Given the description of an element on the screen output the (x, y) to click on. 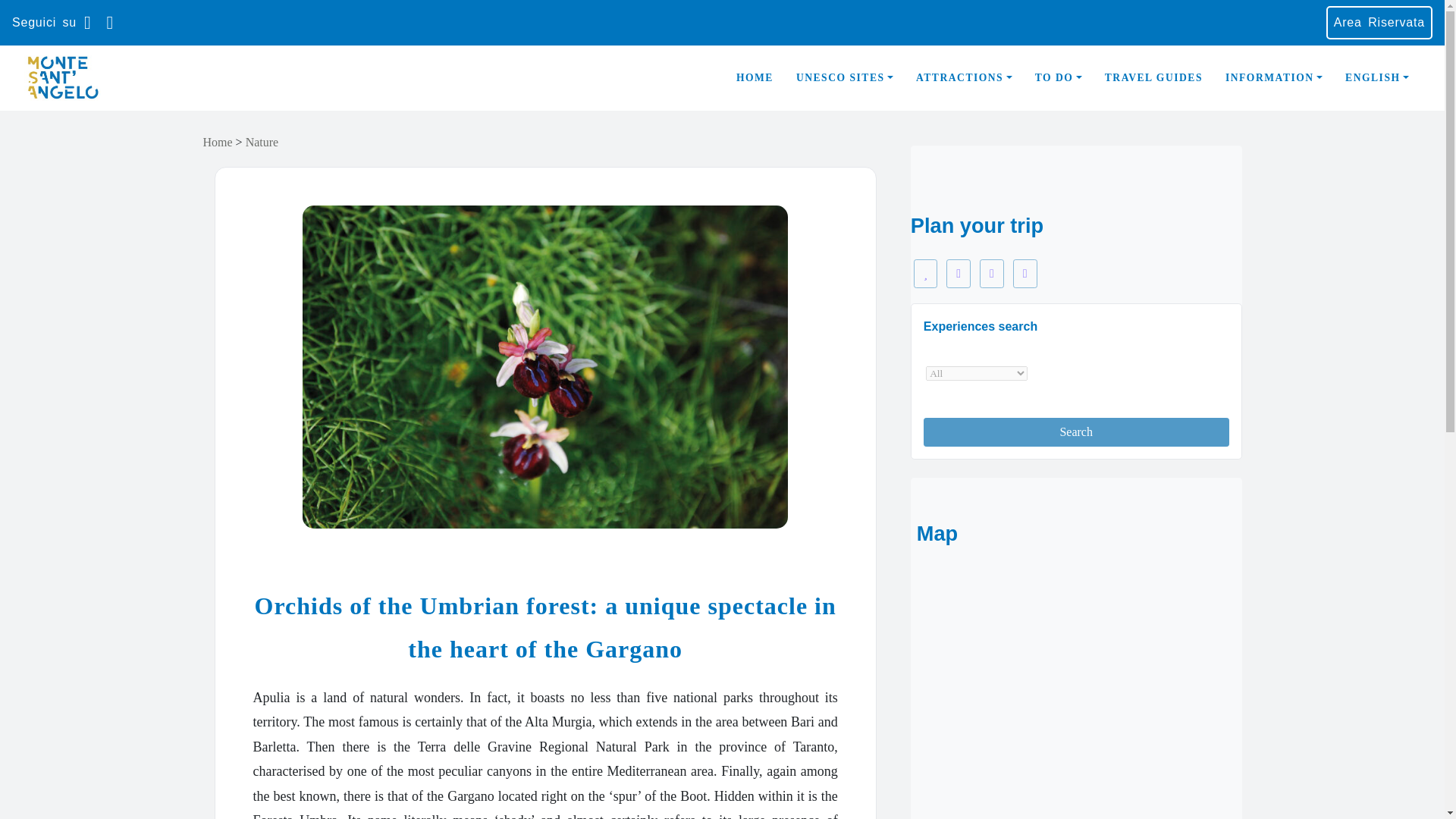
INFORMATION (1273, 78)
UNESCO SITES (844, 78)
HOME (754, 78)
TRAVEL GUIDES (1153, 78)
Home (217, 141)
Area Riservata (1379, 22)
To do (1058, 78)
ATTRACTIONS (963, 78)
Attractions (963, 78)
Home (754, 78)
